Given the description of an element on the screen output the (x, y) to click on. 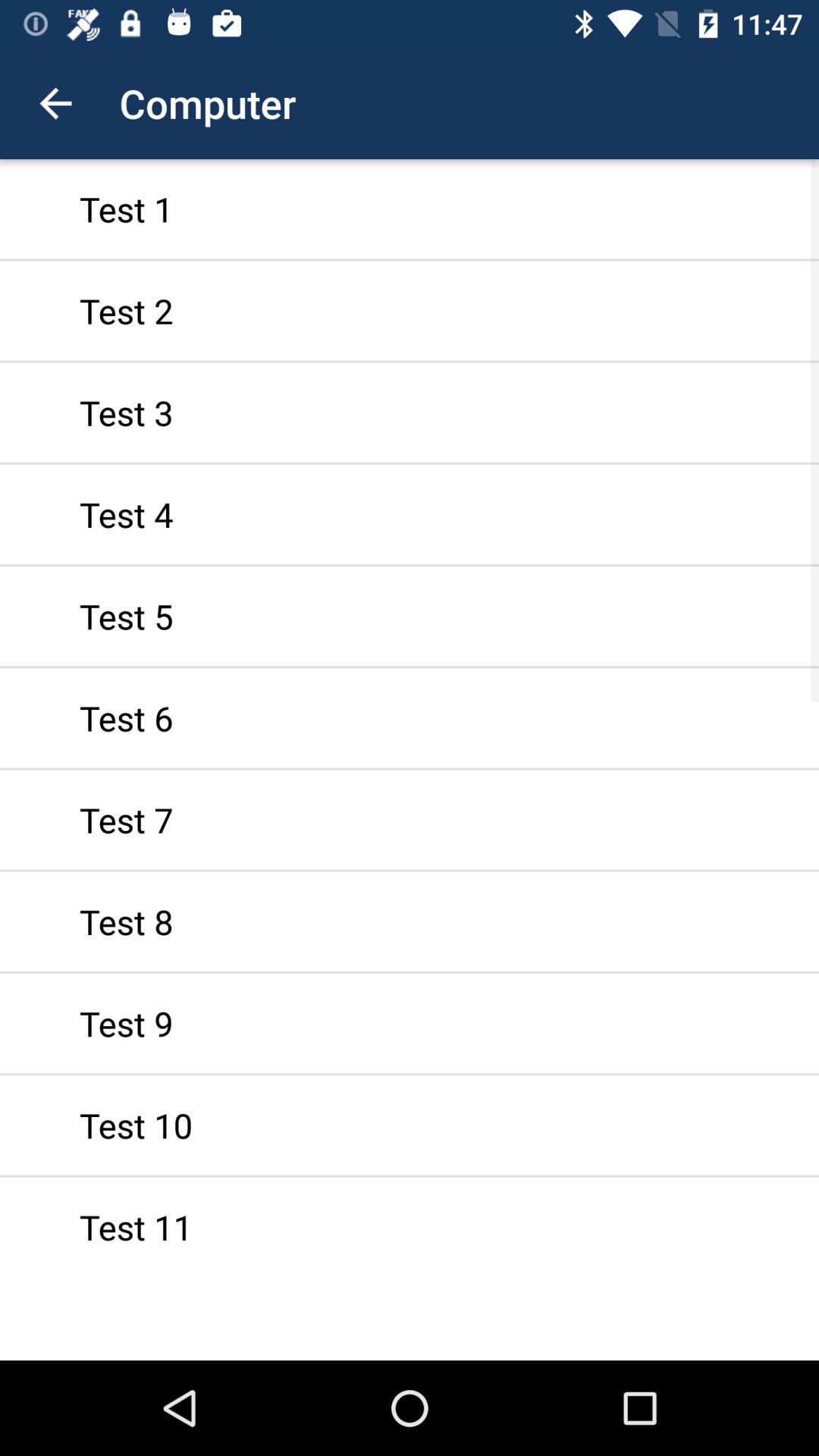
turn on the test 9 icon (409, 1023)
